Given the description of an element on the screen output the (x, y) to click on. 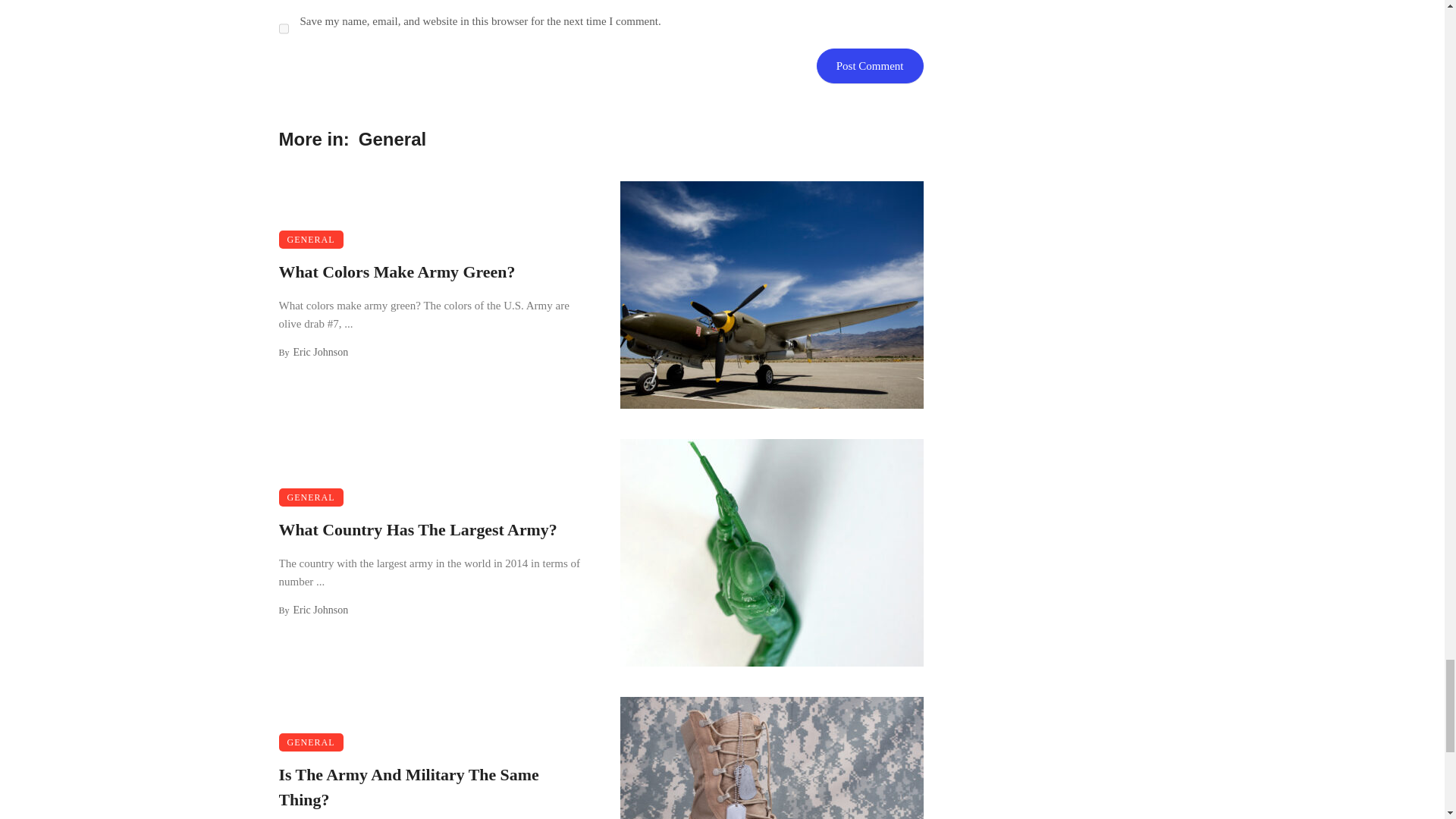
Post Comment (869, 65)
